Given the description of an element on the screen output the (x, y) to click on. 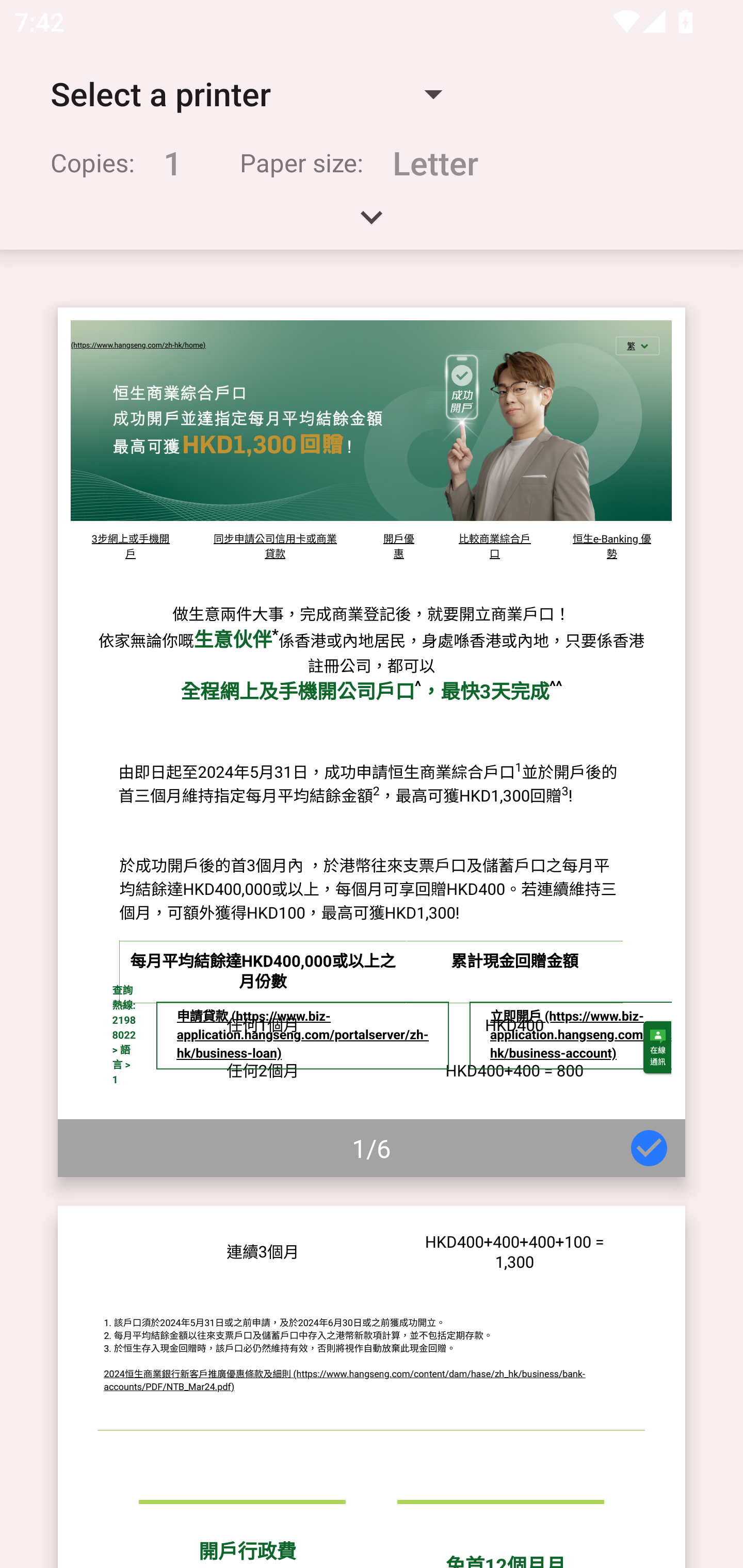
Select a printer (245, 93)
Expand handle (371, 224)
Page 1 of 6 1/6 (371, 742)
Page 2 of 6 (371, 1386)
